Given the description of an element on the screen output the (x, y) to click on. 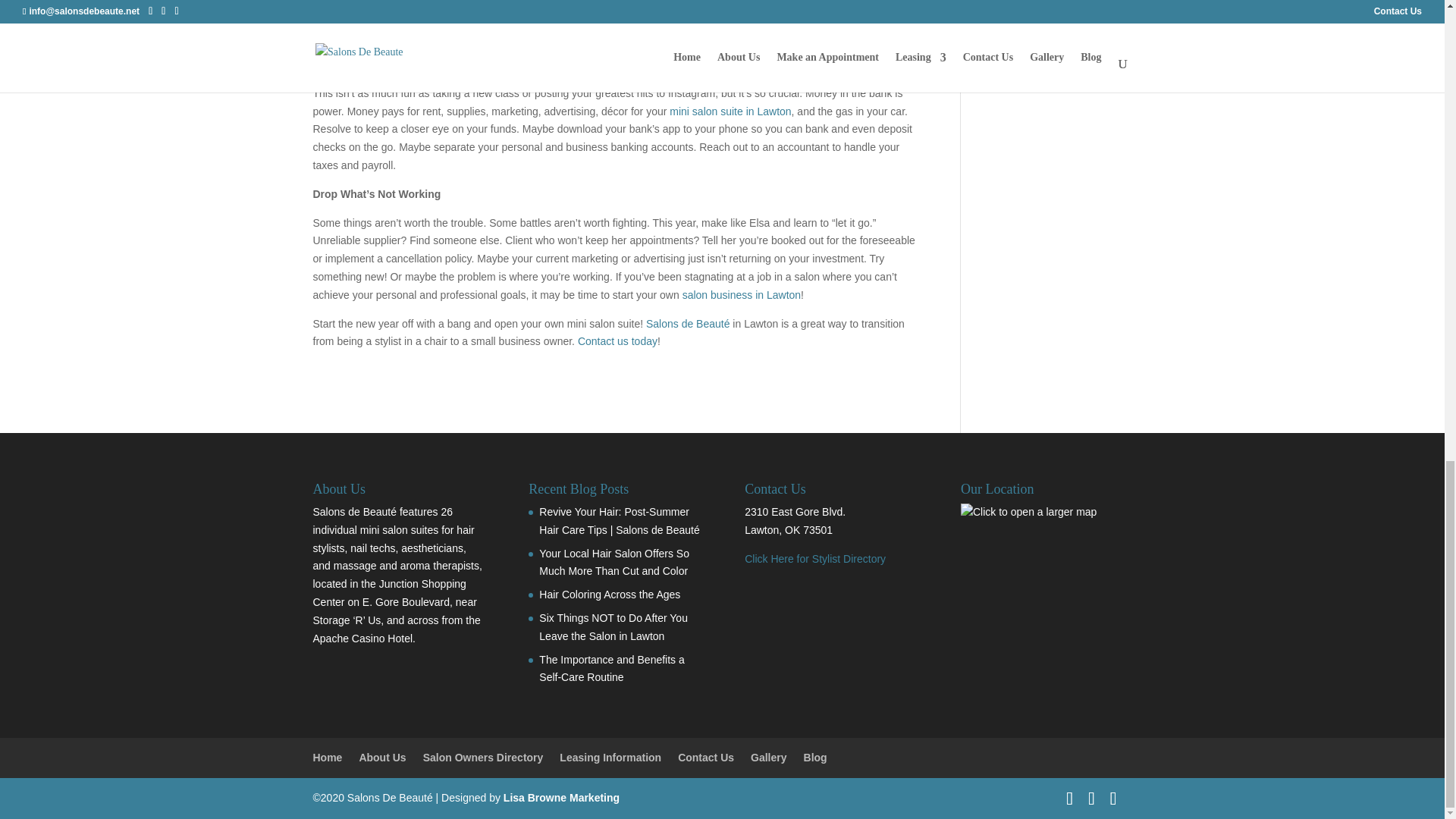
mini salon suite in Lawton (729, 111)
Click to open a larger map (1028, 512)
salon business in Lawton (741, 295)
Contact us today (618, 340)
